Given the description of an element on the screen output the (x, y) to click on. 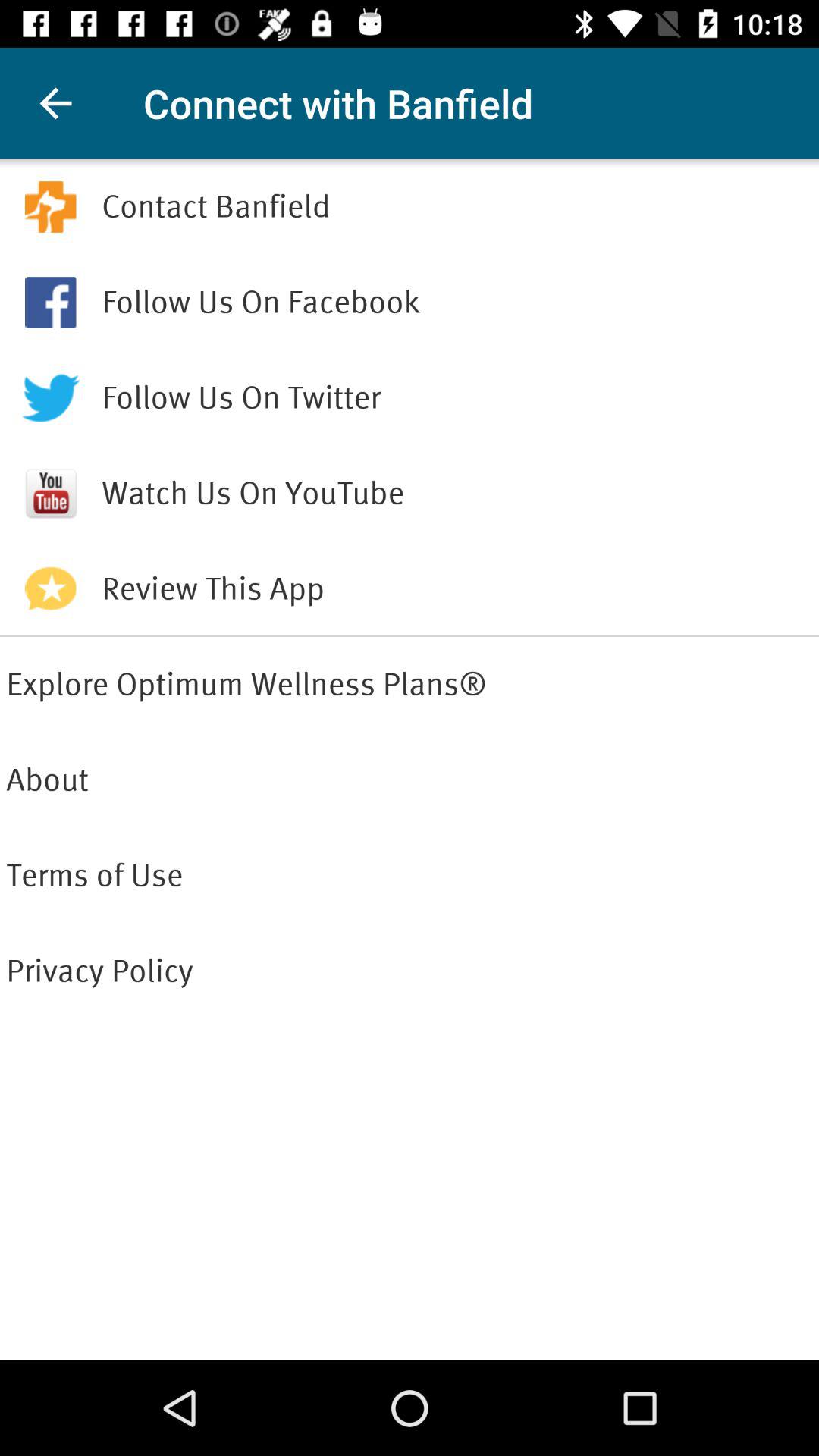
jump to review this app item (457, 589)
